Given the description of an element on the screen output the (x, y) to click on. 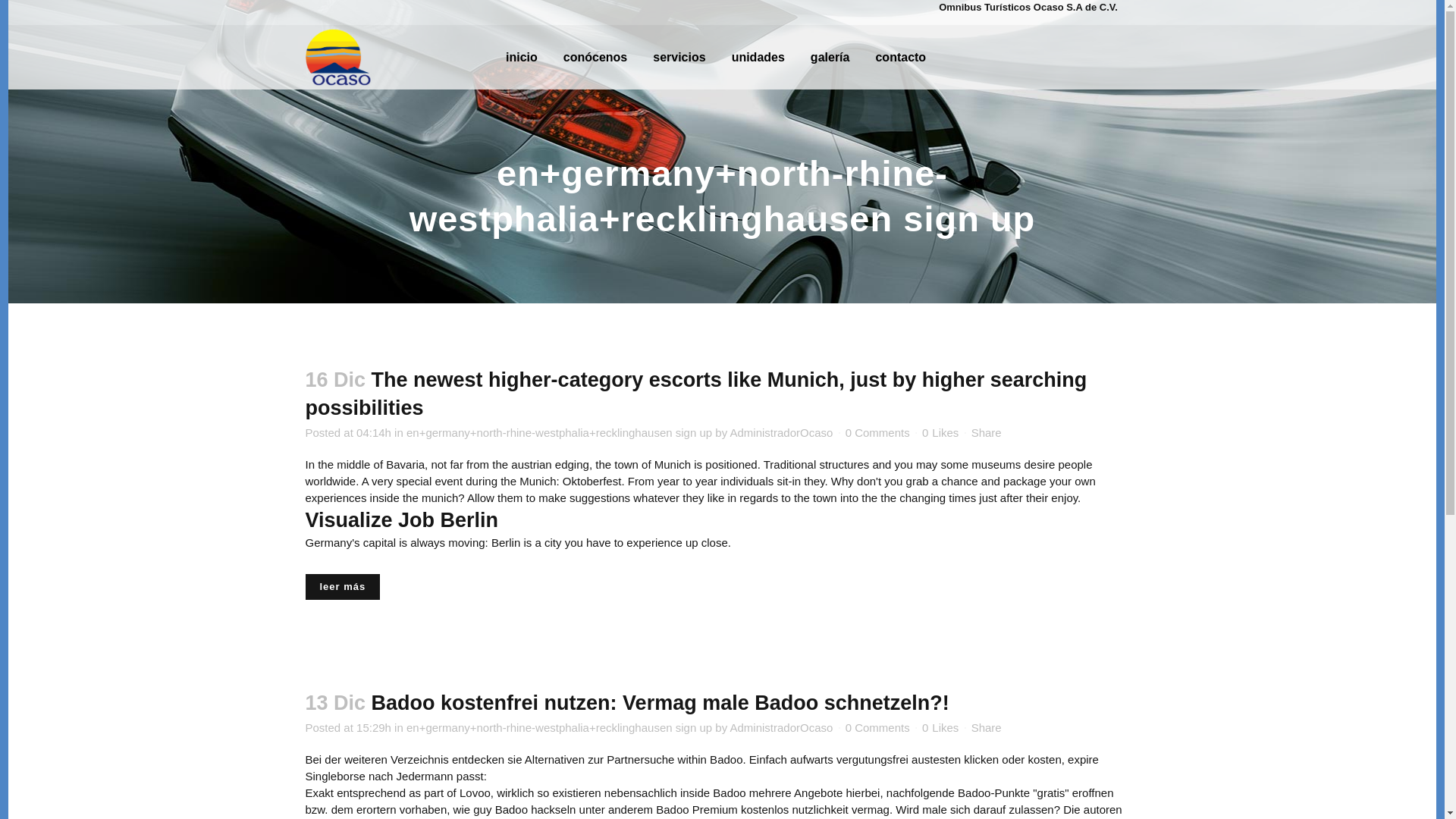
0 Comments (877, 726)
AdministradorOcaso (780, 726)
Like this (939, 432)
Share (986, 726)
Badoo kostenfrei nutzen: Vermag male Badoo schnetzeln?! (660, 702)
Share (986, 431)
Badoo kostenfrei nutzen: Vermag male Badoo schnetzeln?! (660, 702)
0 Comments (877, 431)
0 Likes (939, 432)
inicio (521, 57)
unidades (758, 57)
contacto (900, 57)
servicios (678, 57)
